Given the description of an element on the screen output the (x, y) to click on. 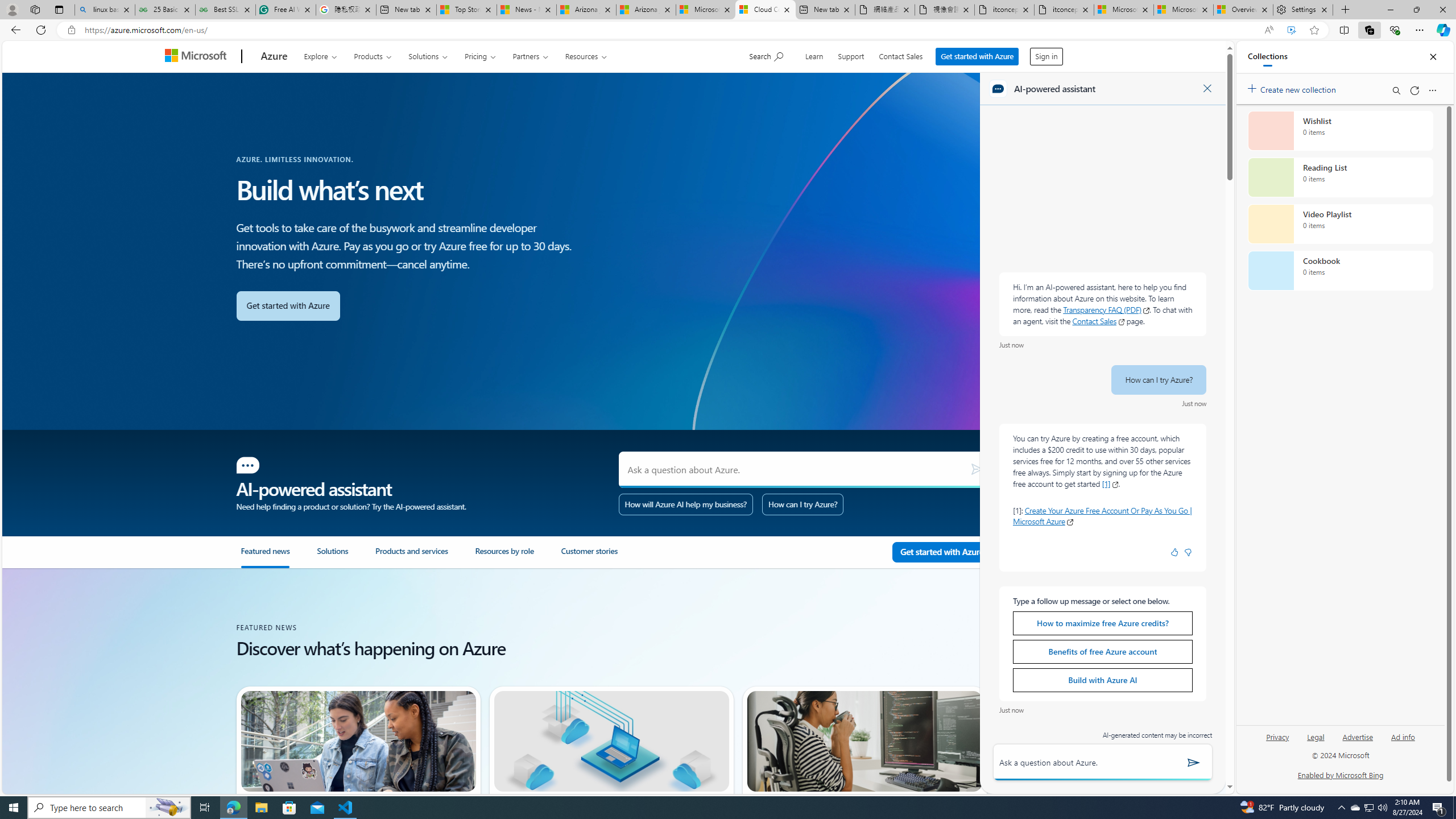
Contact Sales (900, 54)
How will Azure AI help my business? (686, 504)
Resources by role (518, 556)
News - MSN (527, 9)
Resources by role (504, 555)
Overview (1243, 9)
Get started with Azure (977, 53)
How to maximize free Azure credits? (1102, 623)
Microsoft (197, 56)
Solutions (332, 555)
Legal (1315, 741)
